Given the description of an element on the screen output the (x, y) to click on. 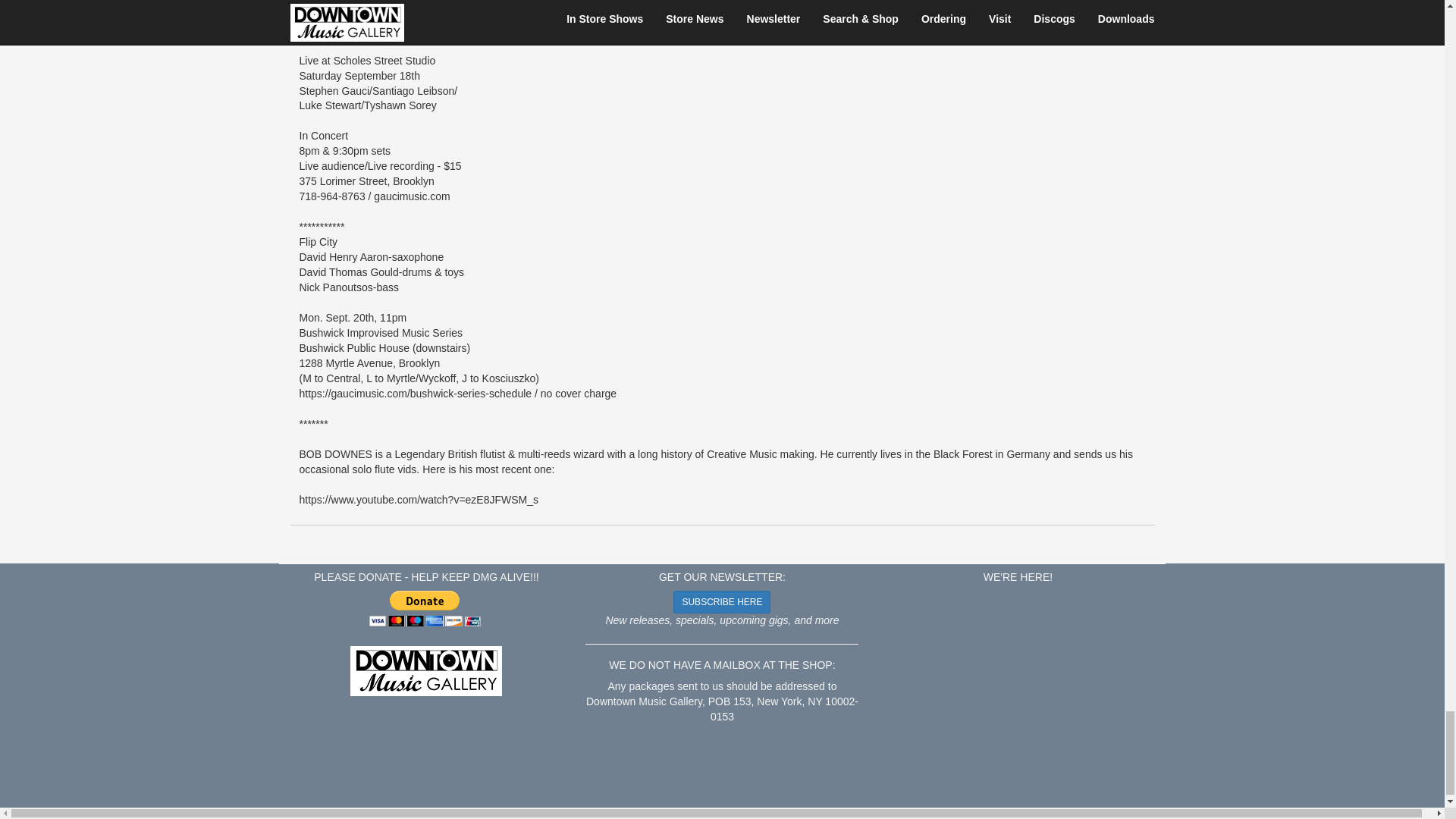
SUBSCRIBE HERE (721, 601)
